Given the description of an element on the screen output the (x, y) to click on. 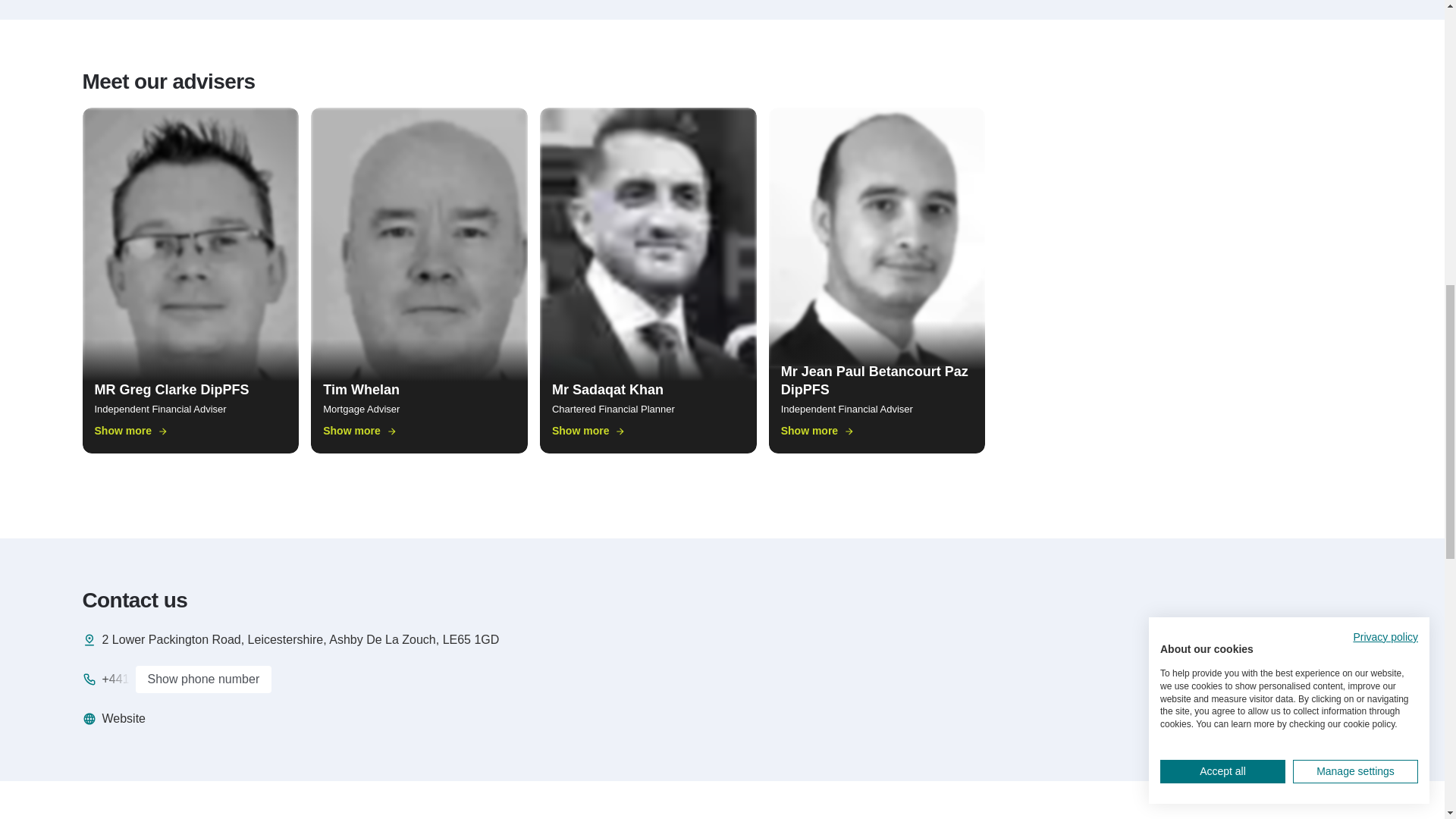
Show phone number (203, 678)
Show more (588, 431)
Show more (359, 431)
Website (113, 719)
Show more (817, 431)
Show more (130, 431)
